Given the description of an element on the screen output the (x, y) to click on. 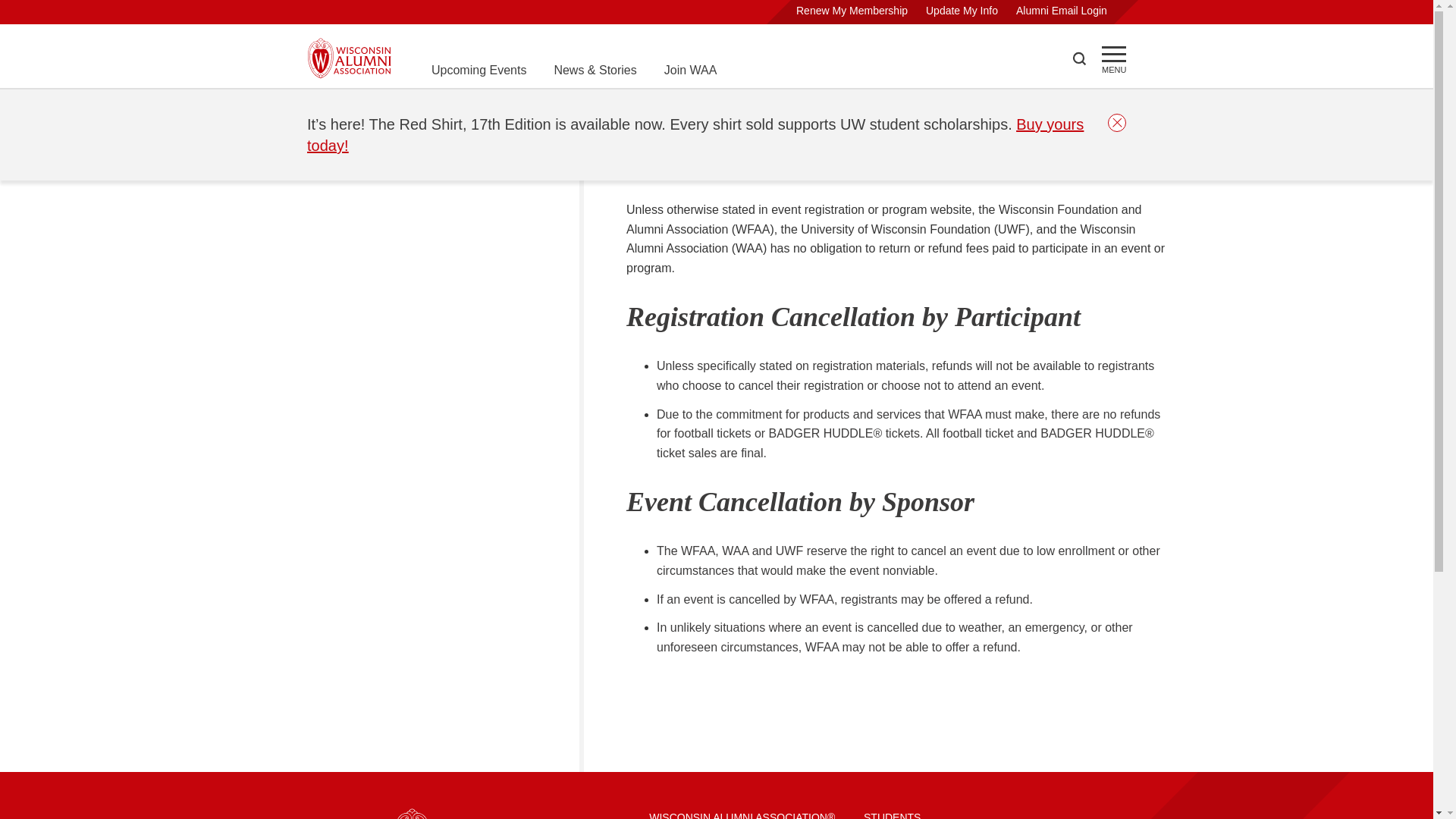
Renew My Membership (851, 10)
Upcoming Events (477, 70)
Update My Info (961, 10)
Join WAA (690, 70)
Dismiss for 24 hours (1116, 122)
Alumni Email Login (1061, 10)
